Given the description of an element on the screen output the (x, y) to click on. 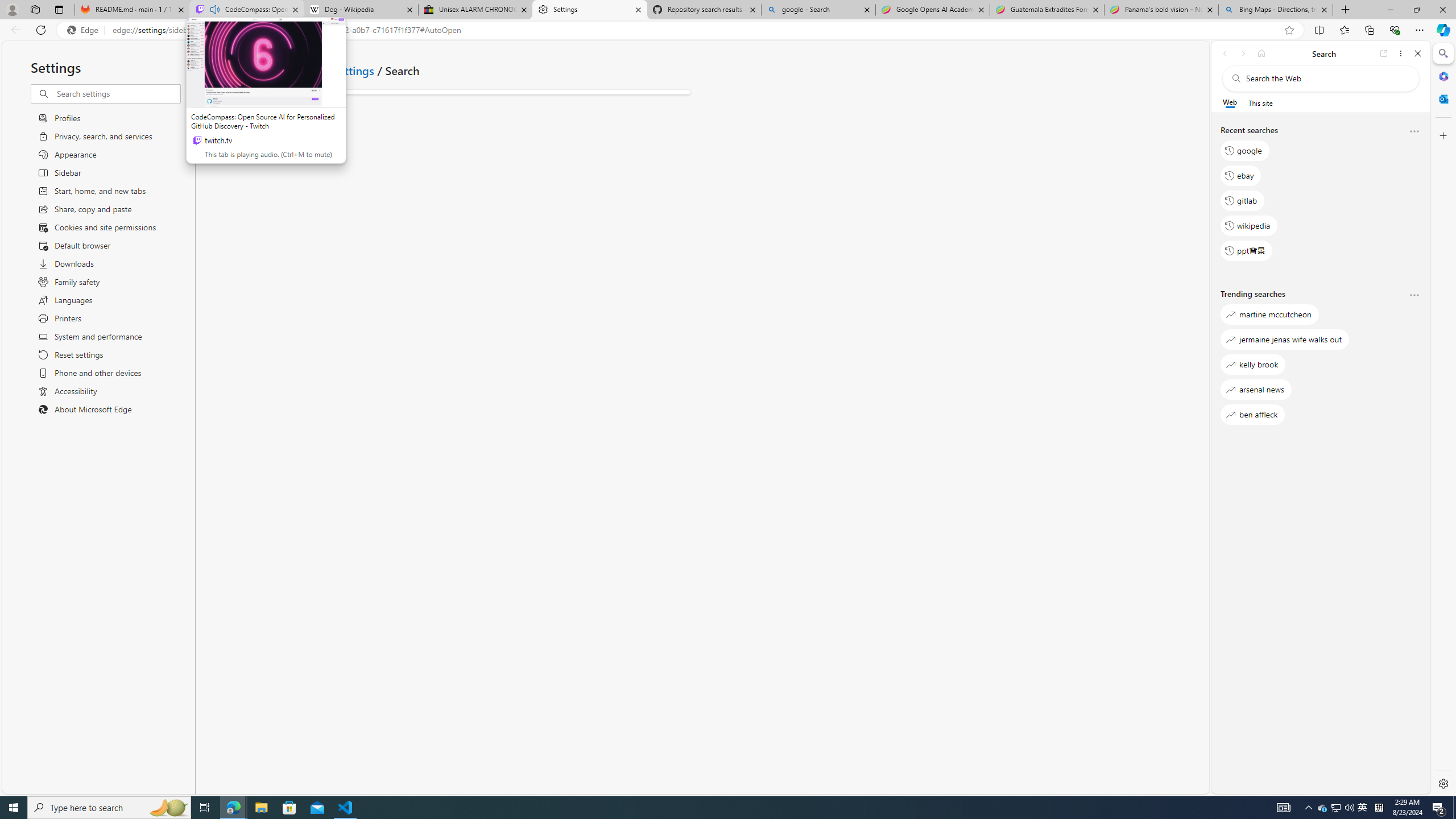
martine mccutcheon (1269, 314)
